Given the description of an element on the screen output the (x, y) to click on. 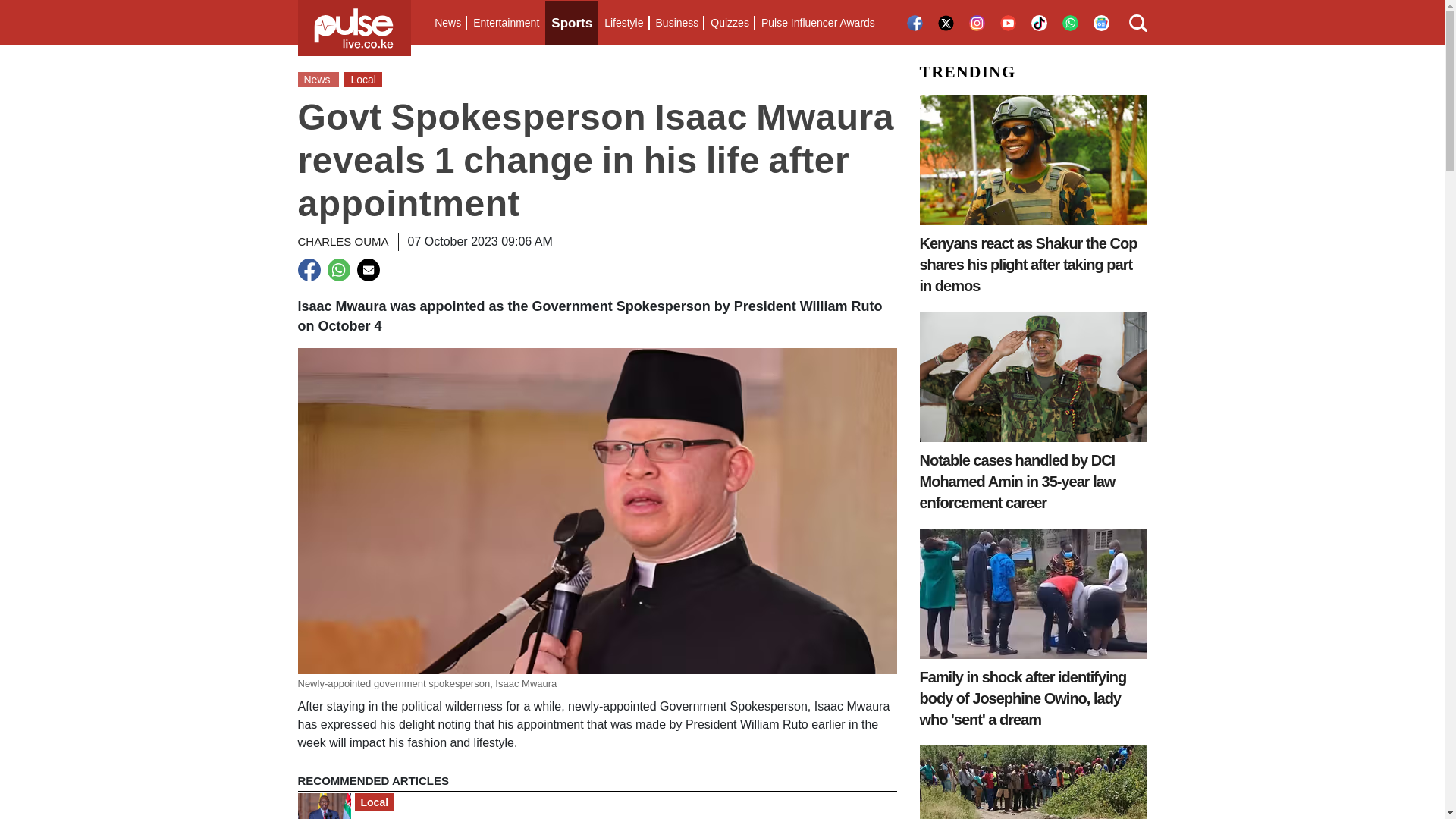
Business (676, 22)
Lifestyle (623, 22)
Entertainment (505, 22)
Pulse Influencer Awards (817, 22)
Quizzes (729, 22)
Sports (571, 22)
